Given the description of an element on the screen output the (x, y) to click on. 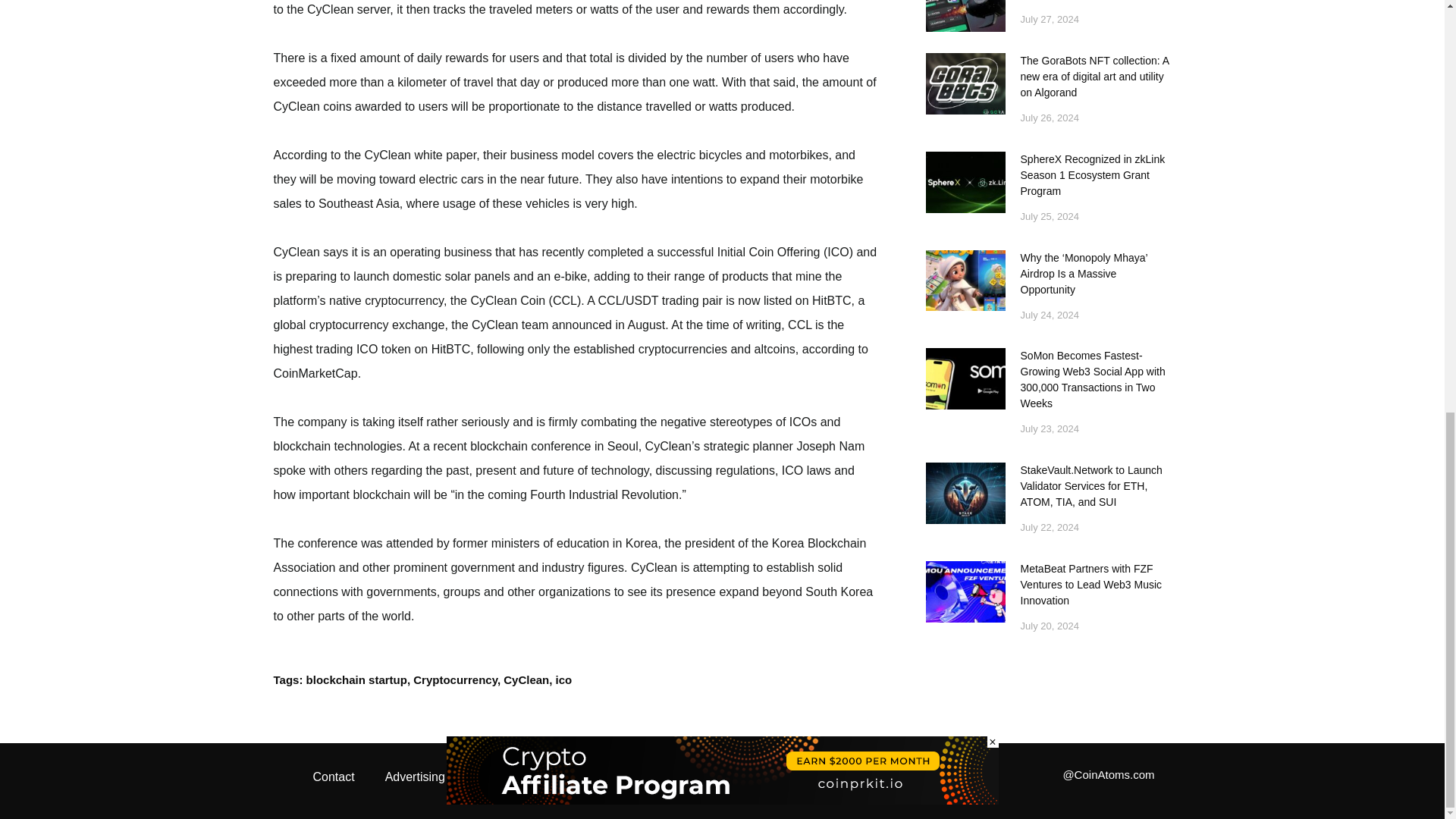
CyClean (525, 679)
blockchain startup (356, 679)
ico (564, 679)
Cryptocurrency (455, 679)
